Given the description of an element on the screen output the (x, y) to click on. 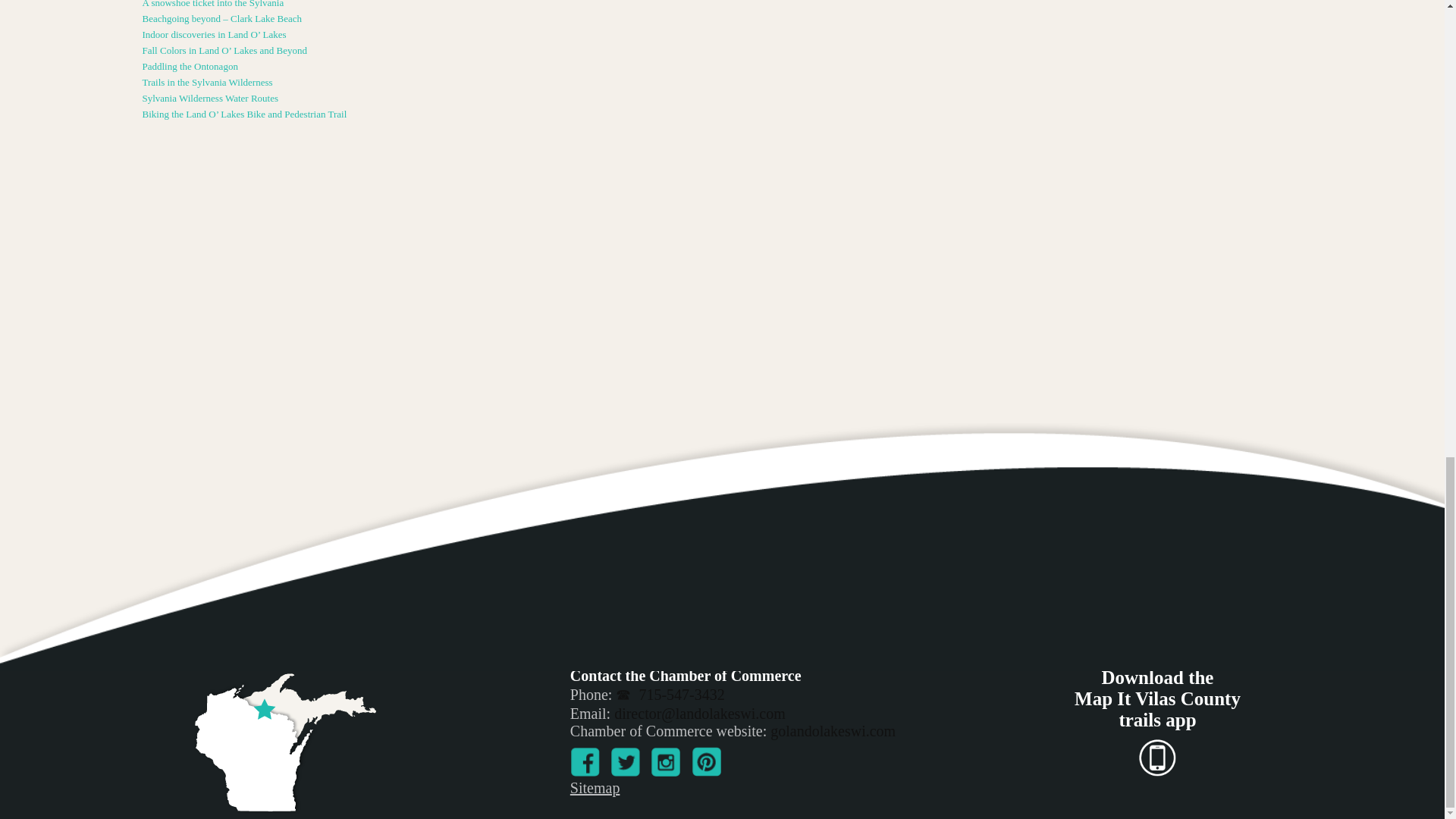
Trails in the Sylvania Wilderness (519, 81)
golandolakeswi.com (832, 730)
Sylvania Wilderness Water Routes (519, 98)
Verified by ExactMetrics (722, 689)
715-547-3432 (669, 694)
Paddling the Ontonagon (519, 66)
A snowshoe ticket into the Sylvania (519, 4)
